Given the description of an element on the screen output the (x, y) to click on. 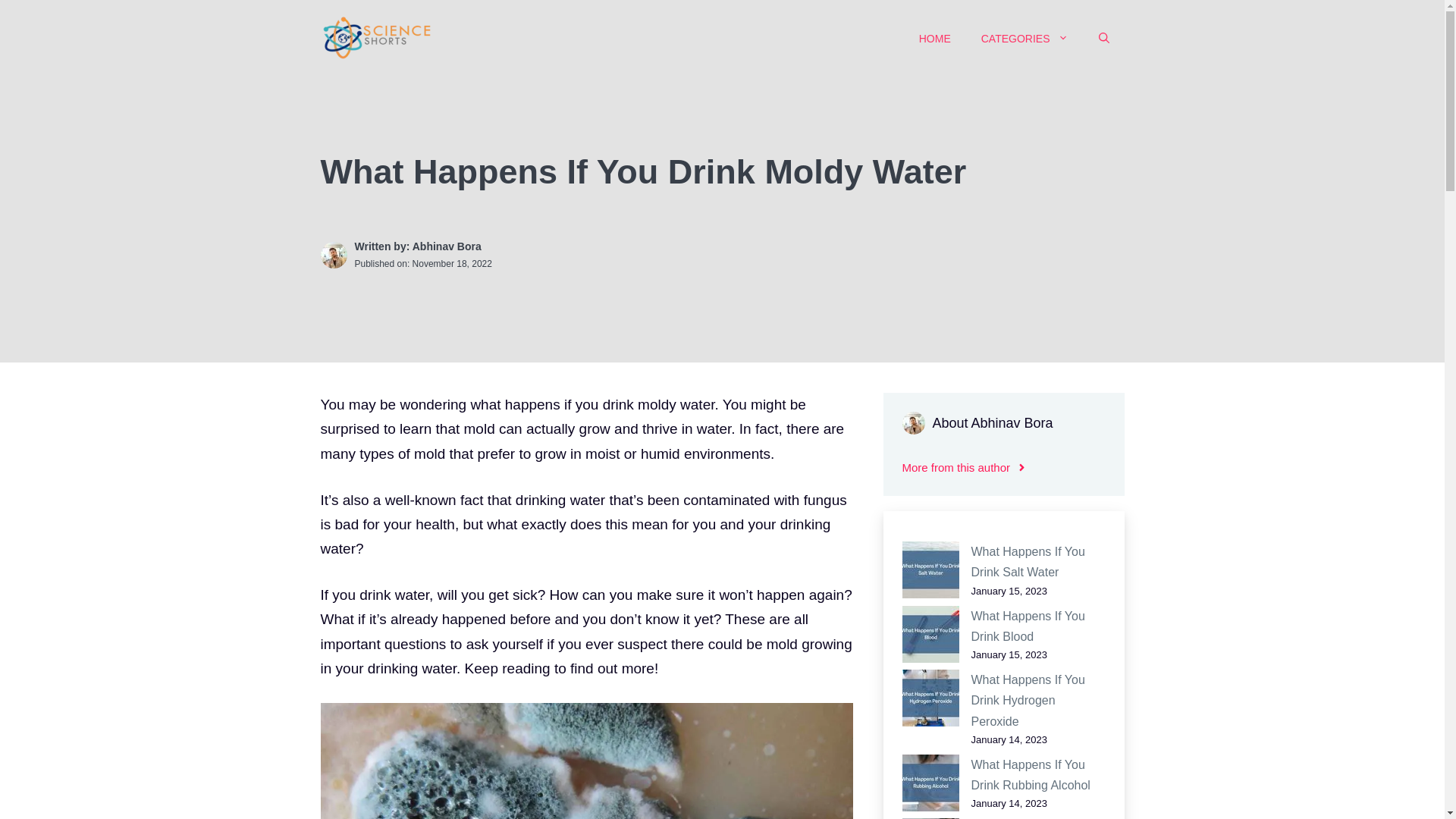
What Happens If You Drink Rubbing Alcohol 5 (930, 782)
HOME (935, 37)
CATEGORIES (1024, 37)
More from this author (964, 467)
What Happens If You Drink Hydrogen Peroxide (1027, 700)
What Happens If You Drink Blood 3 (930, 634)
Science Shorts (376, 37)
What Happens If You Drink Hand Sanitizer 6 (930, 818)
What Happens If You Drink Rubbing Alcohol (1030, 774)
Science Shorts (376, 38)
What Happens If You Drink Salt Water 2 (930, 569)
What Happens If You Drink Moldy Water 1 (585, 760)
What Happens If You Drink Hydrogen Peroxide 4 (930, 697)
What Happens If You Drink Blood (1027, 625)
What Happens If You Drink Salt Water (1027, 561)
